Given the description of an element on the screen output the (x, y) to click on. 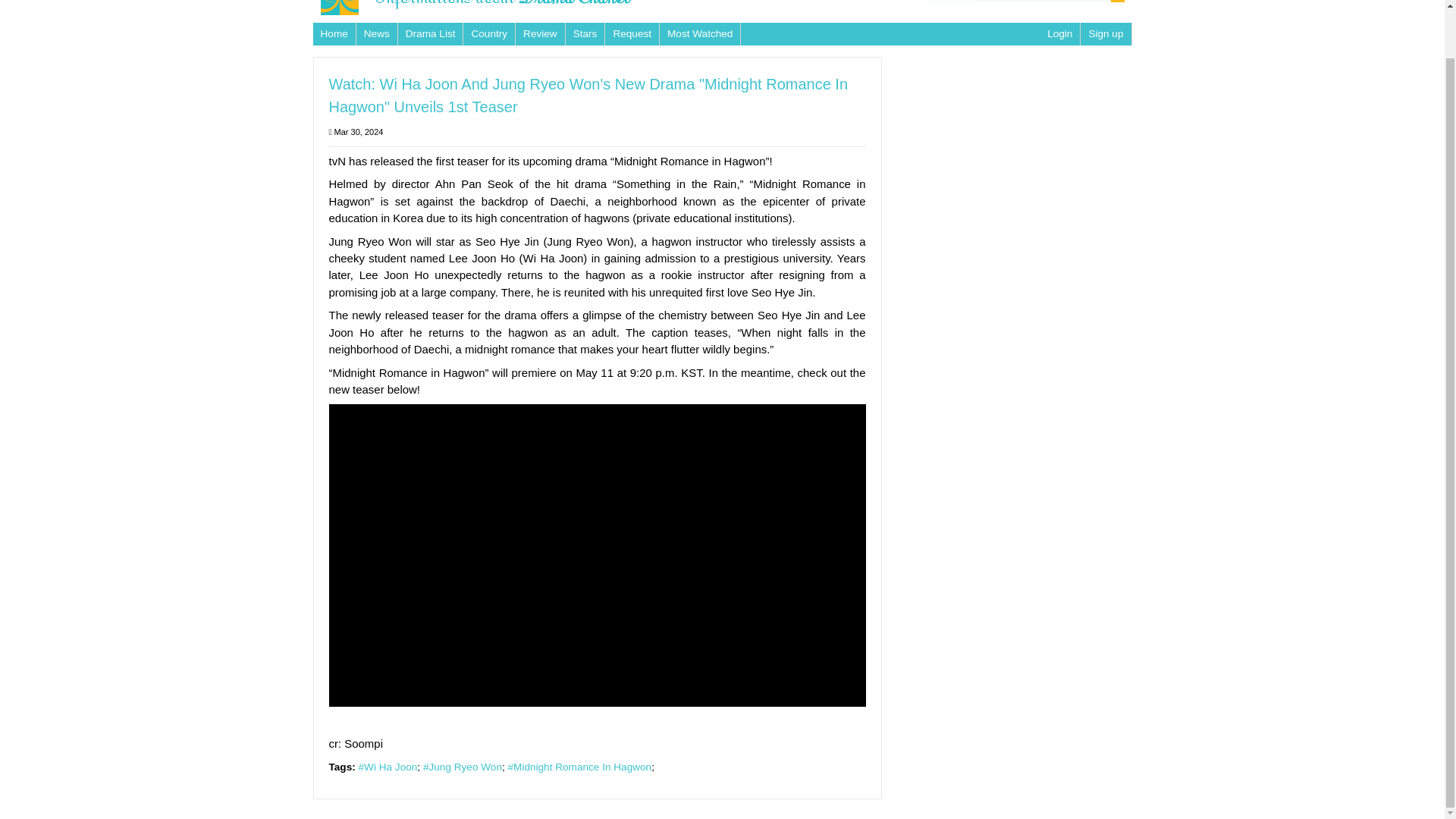
Drama List (430, 33)
Home (334, 33)
News (376, 33)
